Given the description of an element on the screen output the (x, y) to click on. 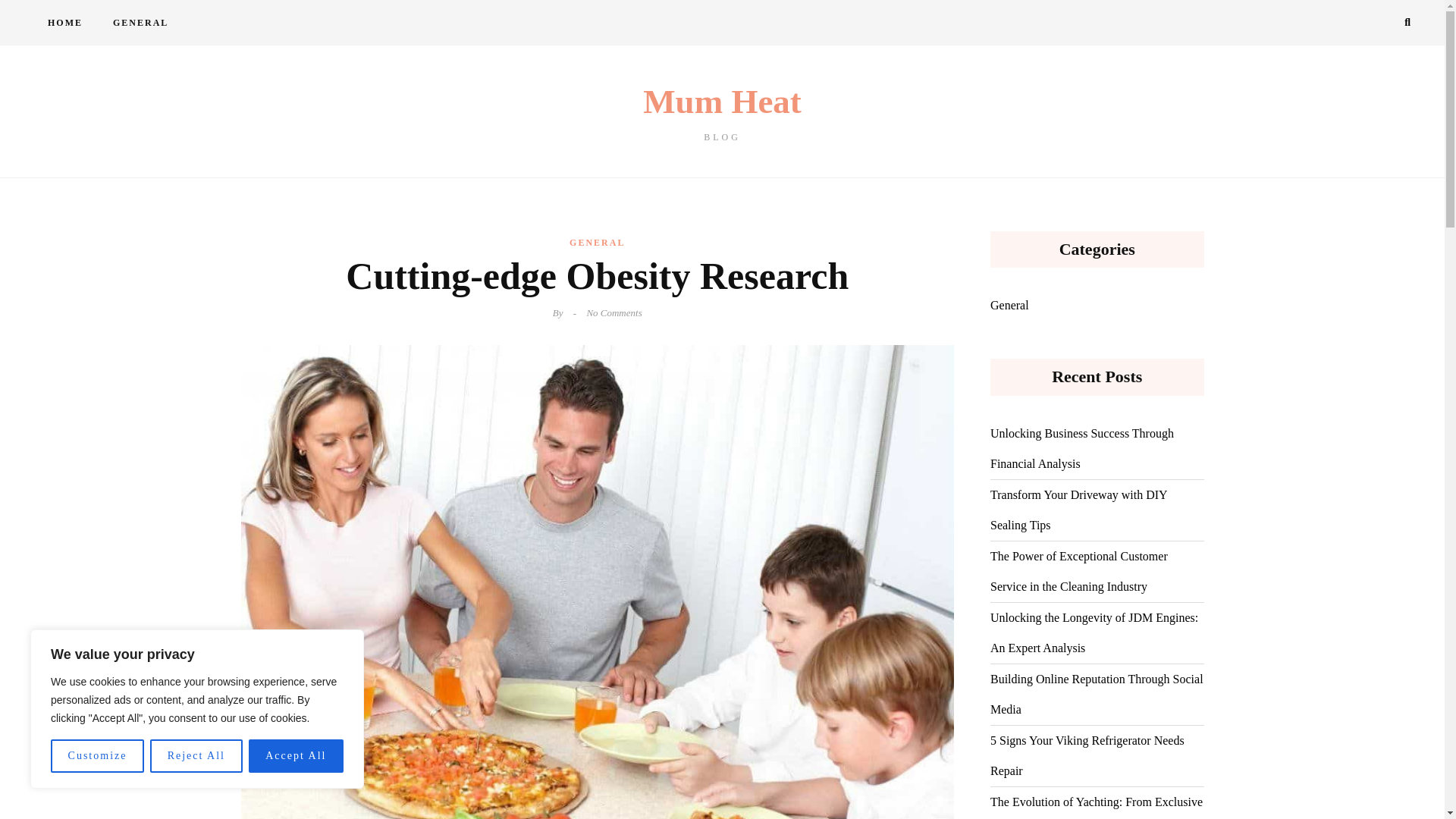
GENERAL (140, 22)
GENERAL (596, 241)
Customize (97, 756)
General (1009, 305)
HOME (721, 112)
Reject All (64, 22)
Accept All (196, 756)
